Given the description of an element on the screen output the (x, y) to click on. 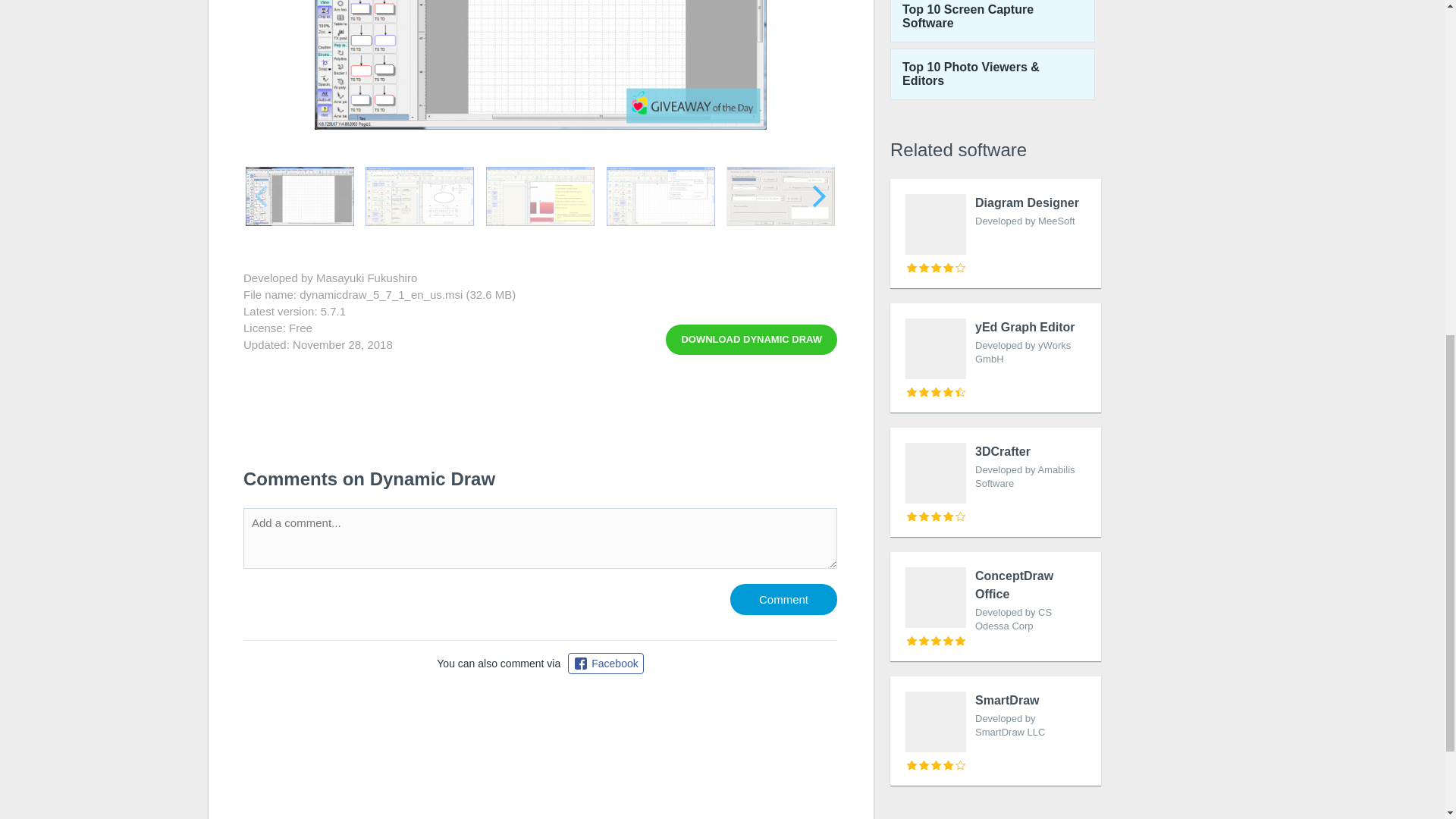
Comment (994, 233)
Comment (994, 357)
Download Dynamic Draw 5.7.1 for free (783, 599)
Top 10 Screen Capture Software for Windows (994, 730)
Top 10 Screen Capture Software (783, 599)
DOWNLOAD DYNAMIC DRAW (751, 339)
